Given the description of an element on the screen output the (x, y) to click on. 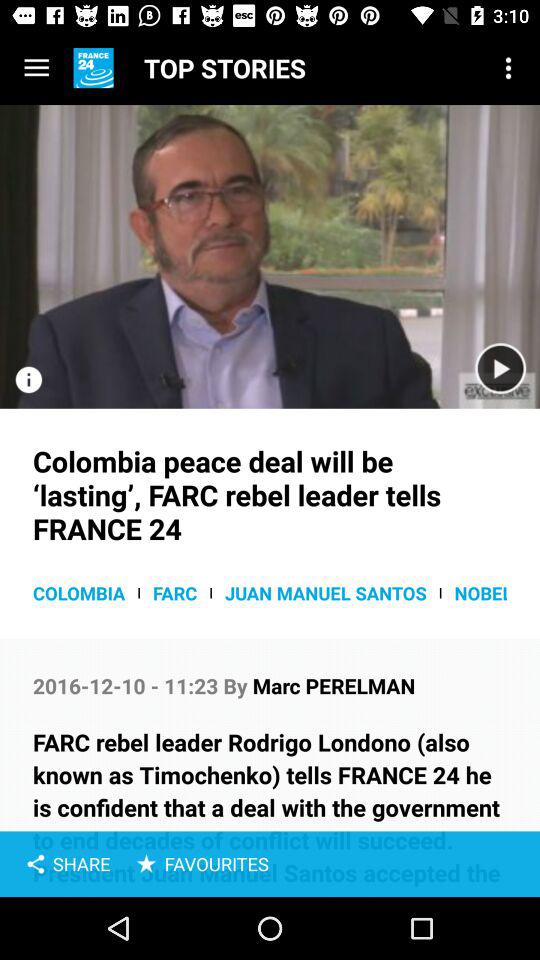
watch video (270, 256)
